Given the description of an element on the screen output the (x, y) to click on. 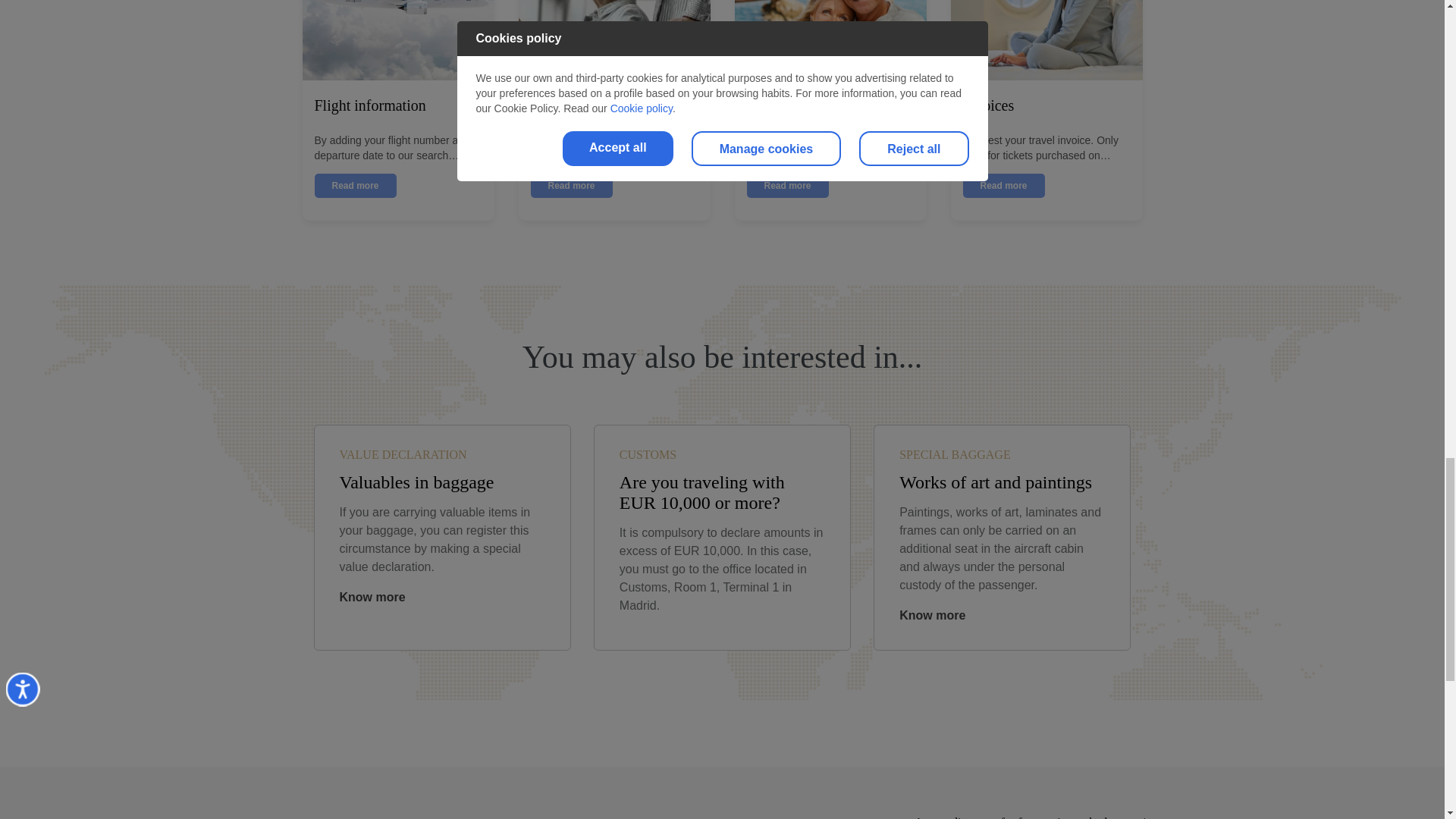
Read more (571, 185)
Read more (786, 185)
Read more (355, 185)
